Given the description of an element on the screen output the (x, y) to click on. 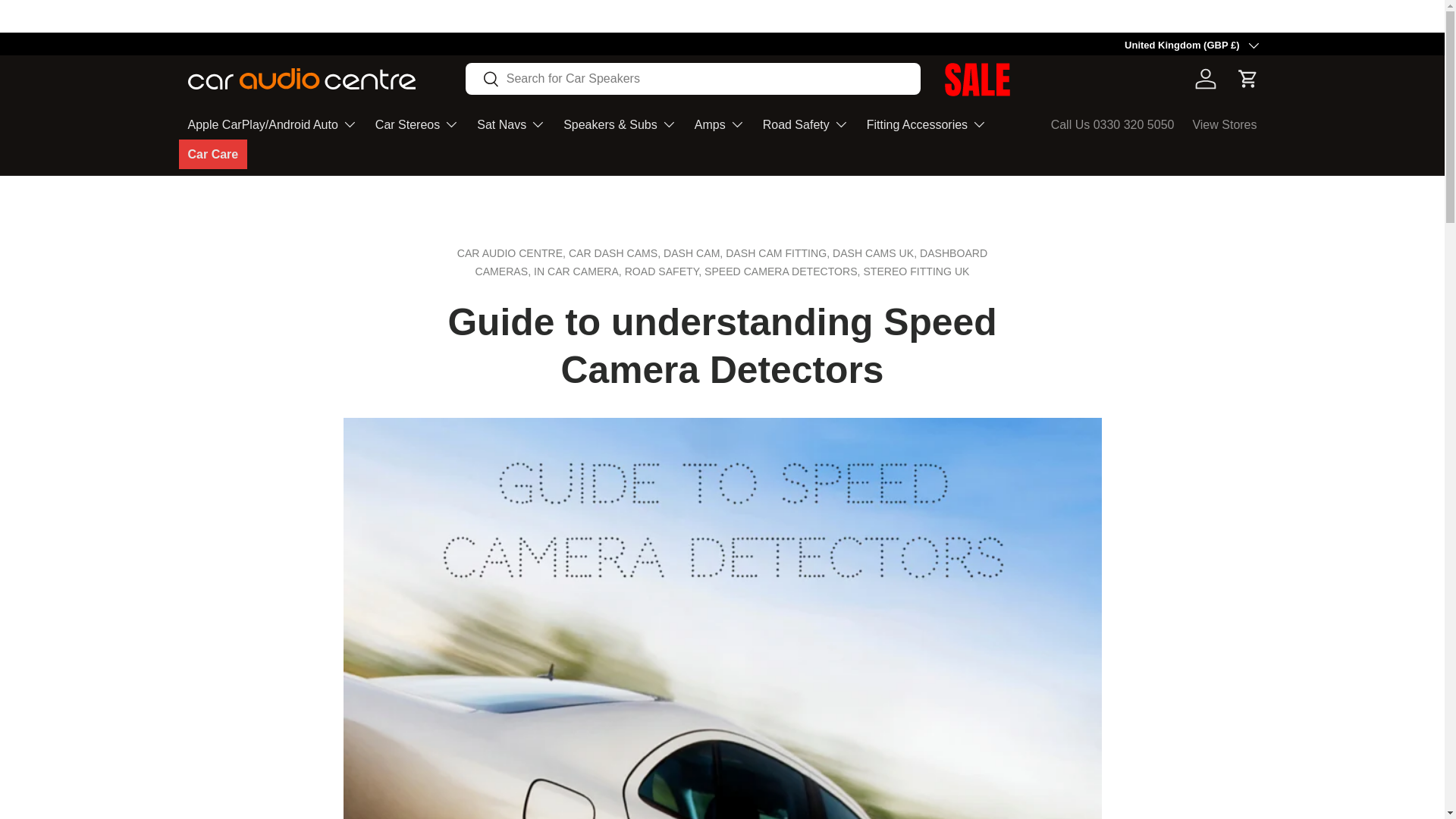
Log in (1206, 78)
Car Stereos (416, 123)
Search (482, 79)
Cart (1248, 78)
Sat Navs (510, 123)
Skip to content (69, 22)
